Given the description of an element on the screen output the (x, y) to click on. 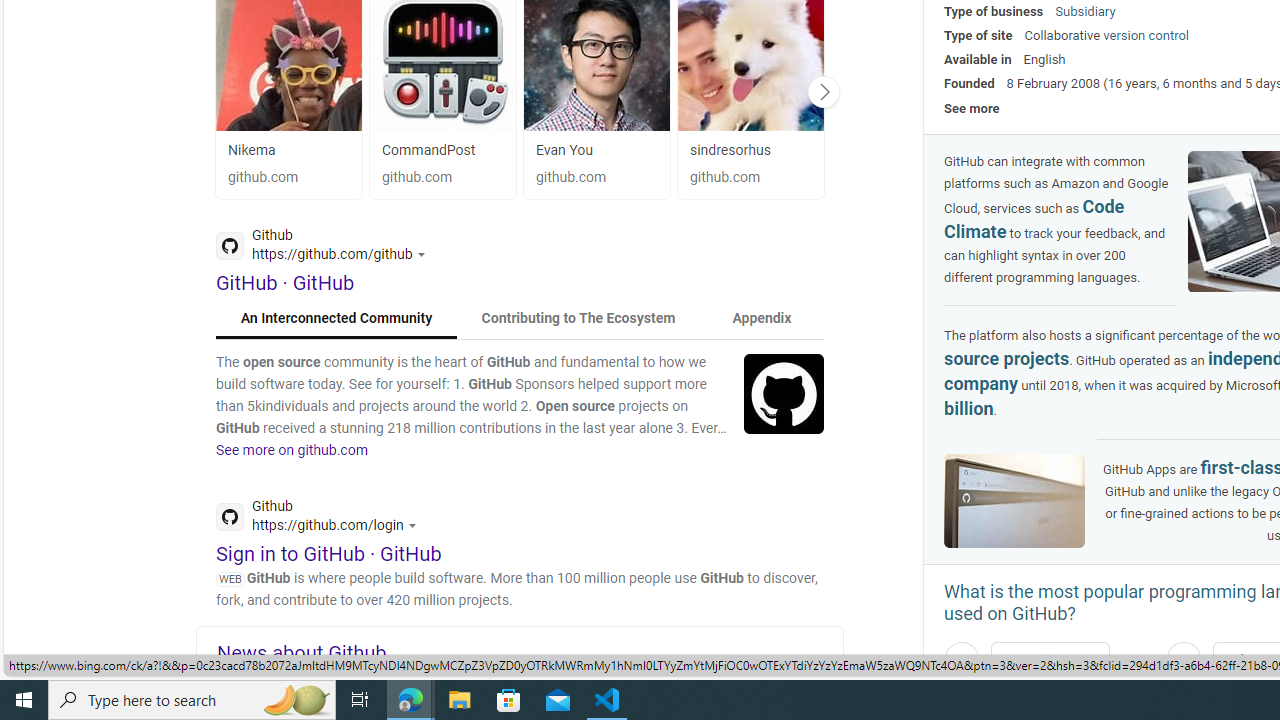
CommandPost (428, 150)
Type of business (994, 11)
Image (783, 393)
Image of GitHub (1014, 500)
Evan You (596, 150)
Nikema (288, 150)
Evan You (564, 150)
An Interconnected Community (337, 318)
sindresorhus (750, 150)
Subsidiary (1085, 11)
Founded (969, 83)
Contributing to The Ecosystem (578, 318)
Image (783, 393)
